Given the description of an element on the screen output the (x, y) to click on. 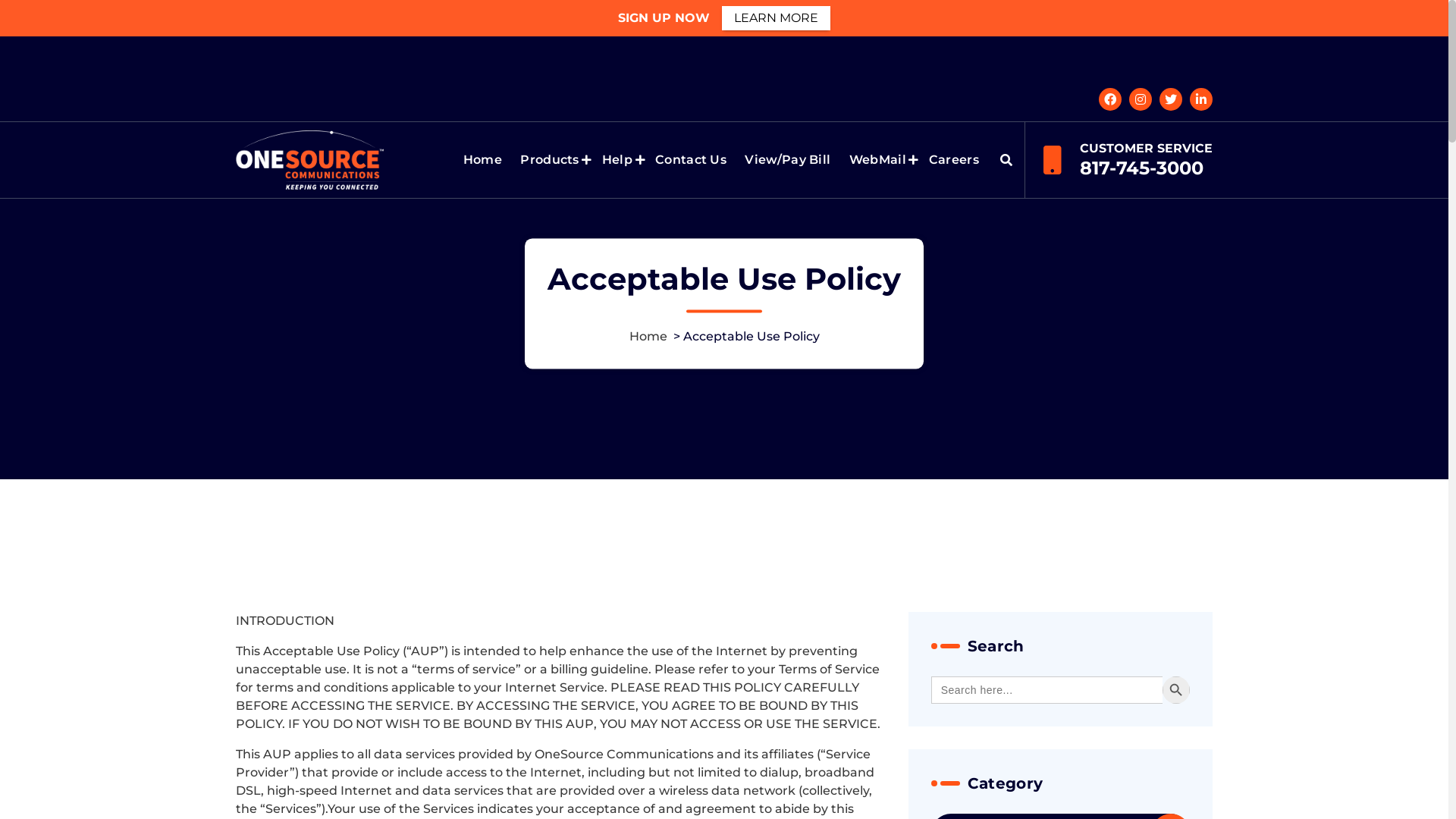
Search Button Element type: text (1175, 689)
WebMail Element type: text (879, 159)
Contact Us Element type: text (690, 159)
LEARN MORE Element type: text (775, 18)
View/Pay Bill Element type: text (787, 159)
Home Element type: text (483, 159)
Help Element type: text (619, 159)
Careers Element type: text (953, 159)
Products Element type: text (551, 159)
Home Element type: text (648, 336)
817-745-3000 Element type: text (1141, 167)
